Given the description of an element on the screen output the (x, y) to click on. 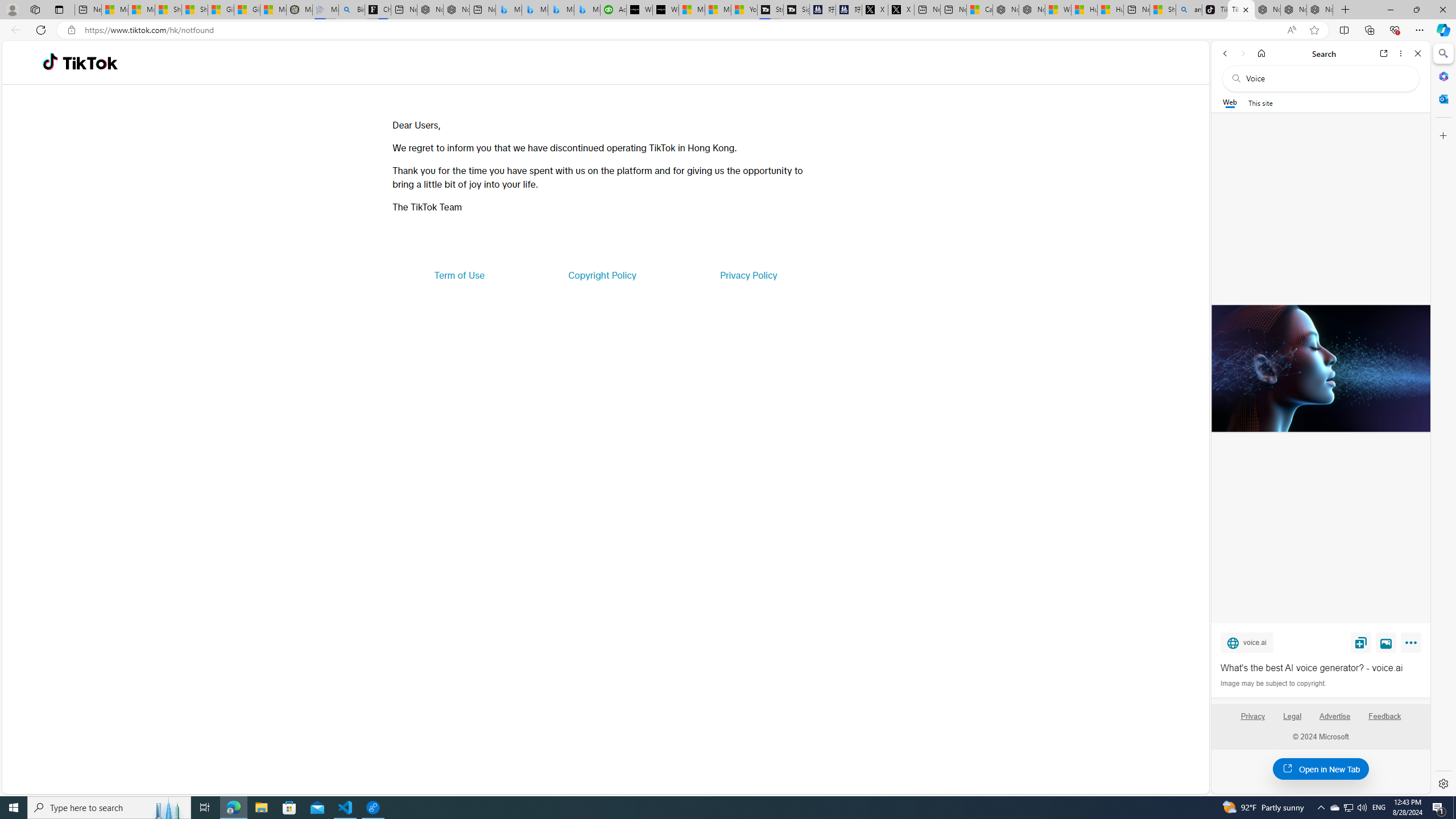
Bing Real Estate - Home sales and rental listings (351, 9)
Outlook (1442, 98)
voice.ai (1247, 642)
Microsoft Bing Travel - Stays in Bangkok, Bangkok, Thailand (534, 9)
Chloe Sorvino (377, 9)
Open in New Tab (1321, 768)
Customize (1442, 135)
